Given the description of an element on the screen output the (x, y) to click on. 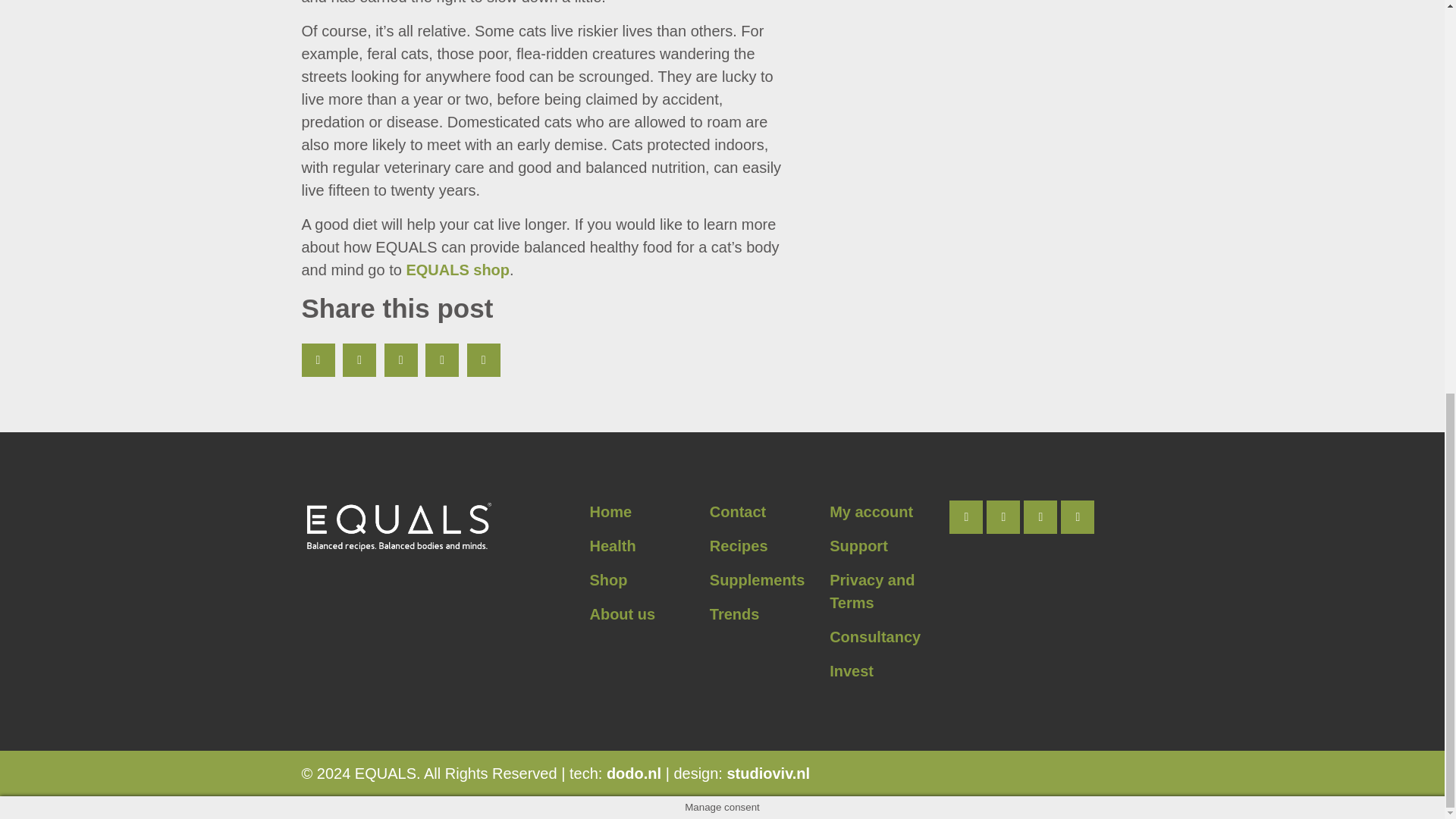
Health (611, 545)
My account (870, 511)
Contact (737, 511)
Deel op linkedin (441, 359)
EQUALS shop (457, 269)
Supplements (757, 579)
Recipes (739, 545)
Tweet dit! (358, 359)
Trends (735, 614)
Home (610, 511)
Deel op WhatsApp (483, 359)
About us (622, 614)
Deel op pinterest (400, 359)
Shop (608, 579)
Deel op Facebook. (317, 359)
